Given the description of an element on the screen output the (x, y) to click on. 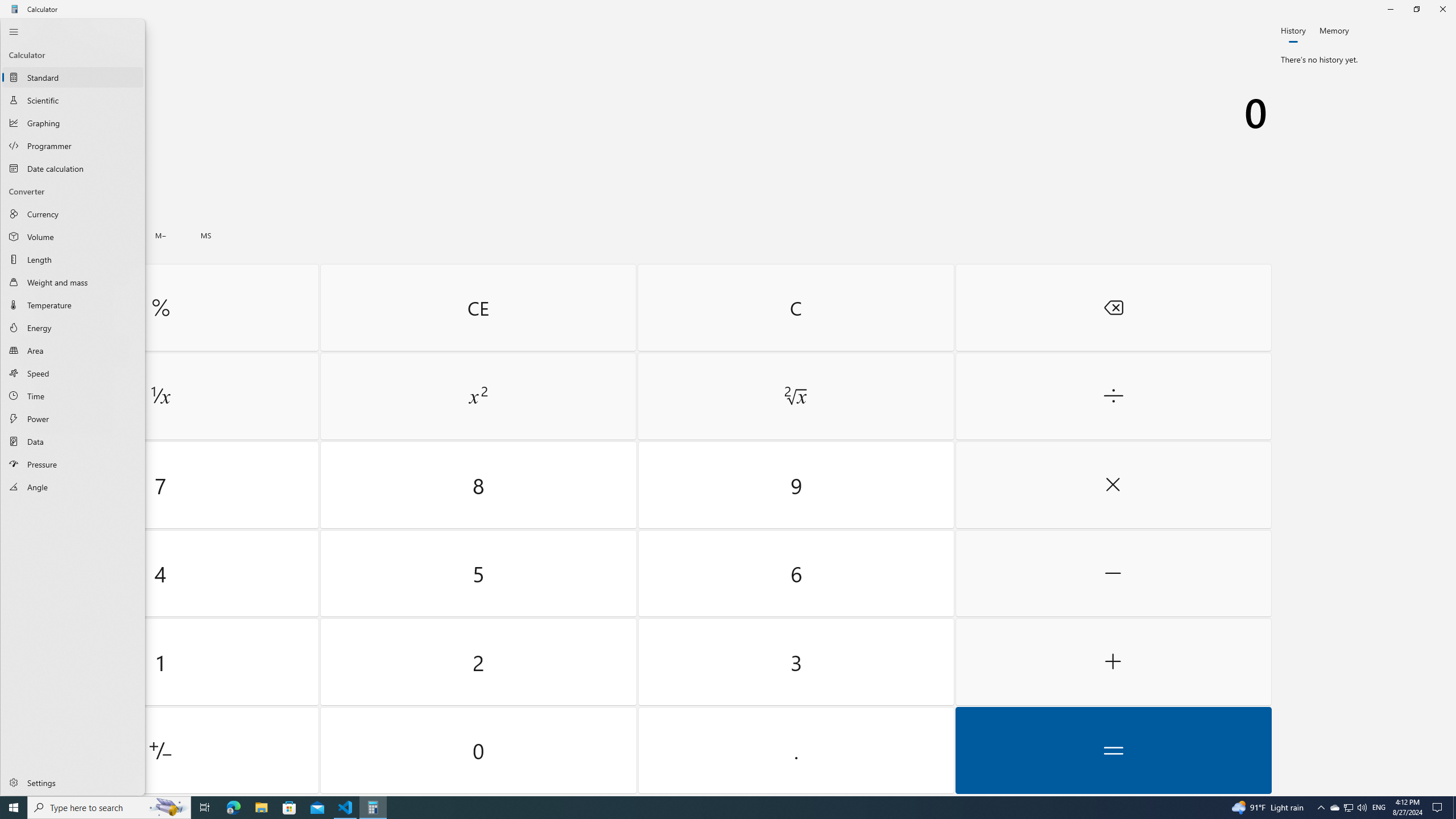
Seven (160, 485)
Clear entry (478, 307)
Keep on top (88, 31)
Equals (1113, 749)
Nine (795, 485)
Zero (478, 749)
Square root (795, 396)
Close (728, 407)
Two (478, 661)
Standard Calculator (72, 77)
